Given the description of an element on the screen output the (x, y) to click on. 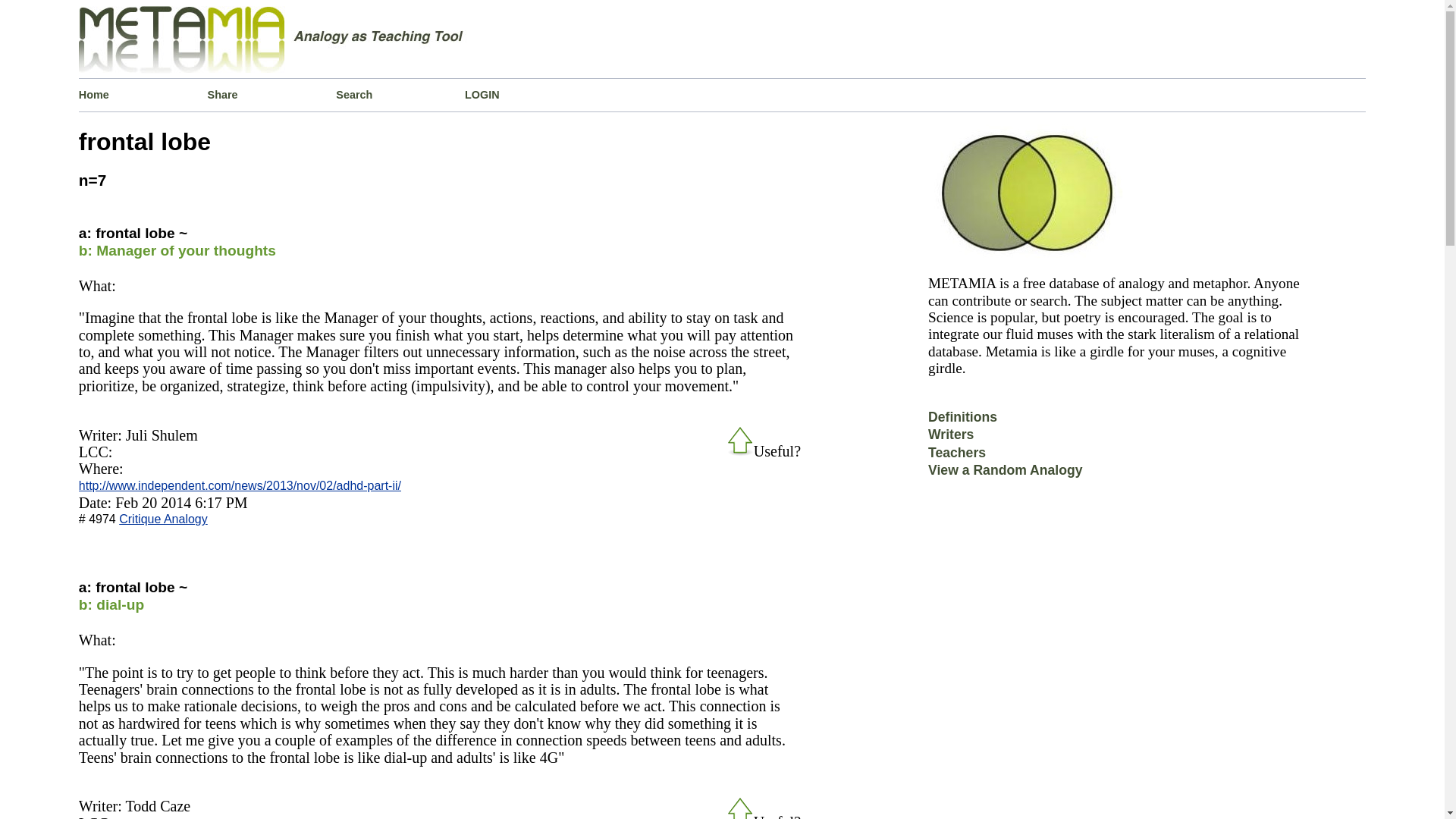
Writers (951, 439)
Search (400, 94)
Share (272, 94)
View a Random Analogy (1004, 475)
Critique Analogy (163, 518)
Definitions (962, 422)
LOGIN (529, 94)
Home (143, 94)
Teachers (956, 458)
